Given the description of an element on the screen output the (x, y) to click on. 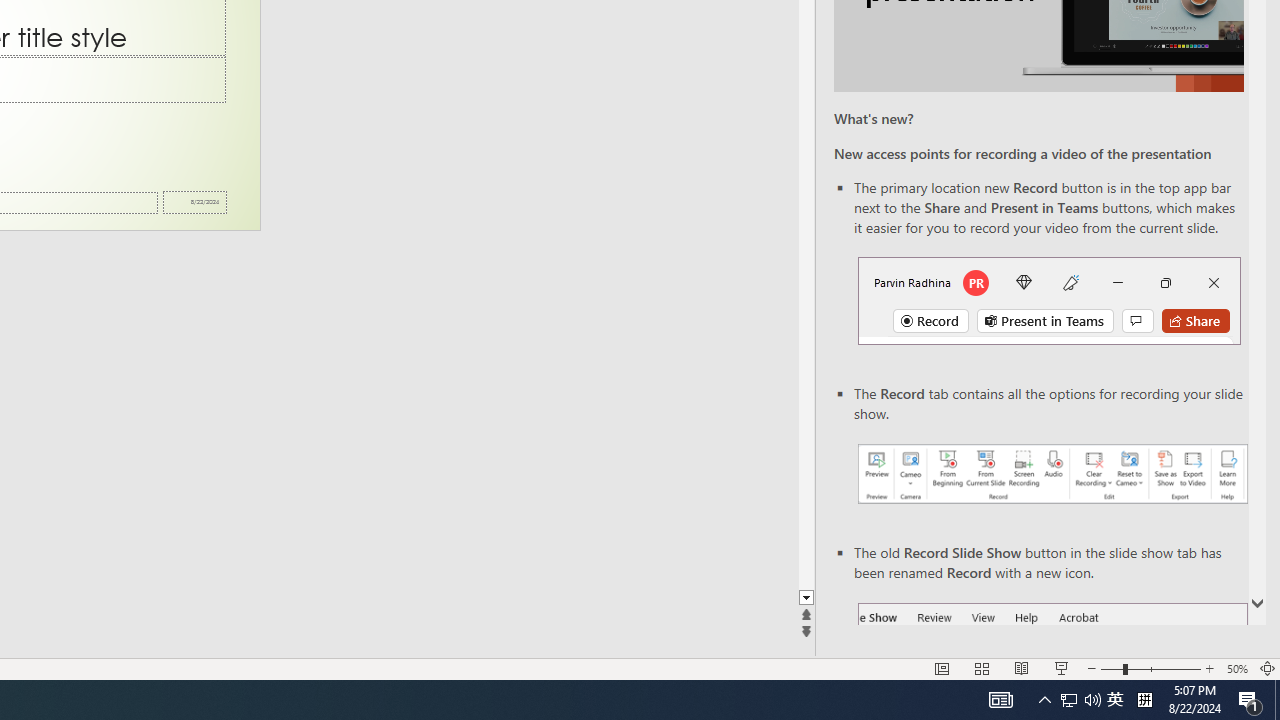
Date (194, 201)
Record button in top bar (1049, 300)
Zoom 50% (1236, 668)
Record your presentations screenshot one (1052, 473)
